Given the description of an element on the screen output the (x, y) to click on. 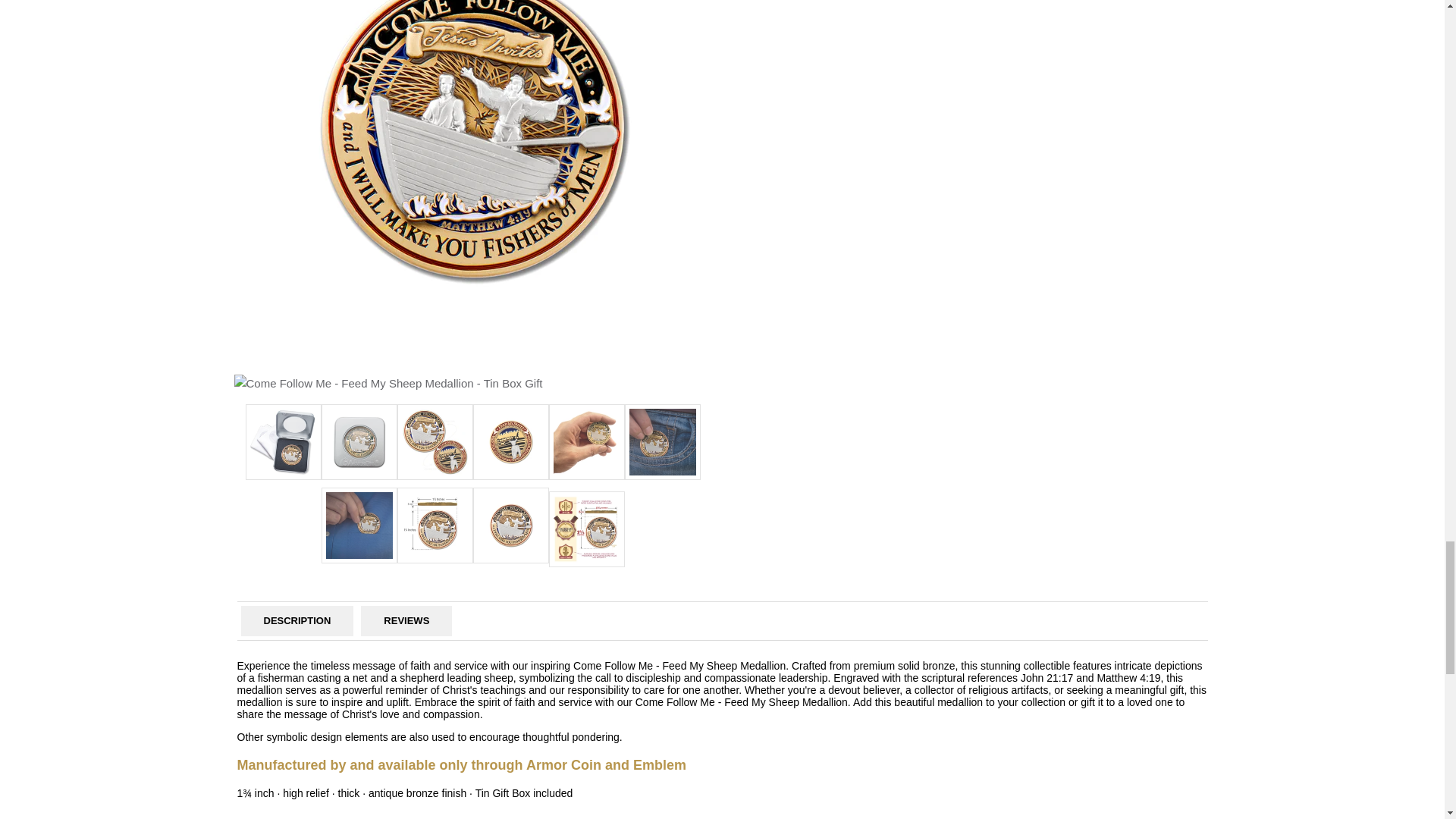
DESCRIPTION (295, 620)
REVIEWS (405, 620)
